Given the description of an element on the screen output the (x, y) to click on. 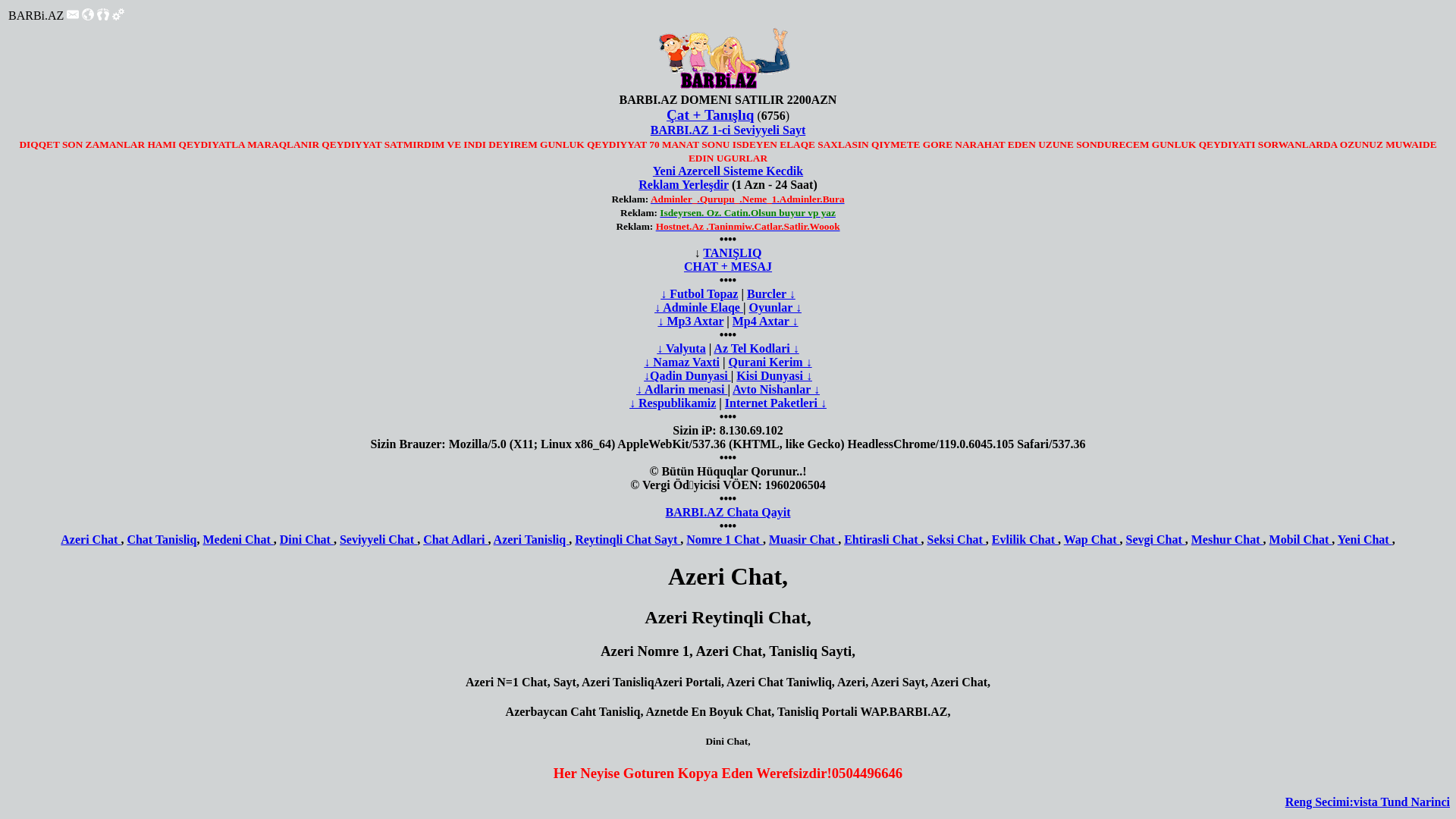
Isdeyrsen. Oz. Catin.Olsun buyur vp yaz Element type: text (747, 212)
Mesajlar Element type: hover (72, 14)
Muasir Chat Element type: text (802, 539)
Adminler_.Qurupu_.Neme_1.Adminler.Bura Element type: text (747, 198)
BARBI.AZ 1-ci Seviyyeli Sayt Element type: text (727, 129)
Hostnet.Az .Taninmiw.Catlar.Satlir.Woook Element type: text (747, 226)
CHAT + MESAJ Element type: text (727, 266)
Nomre 1 Chat Element type: text (724, 539)
Sevgi Chat Element type: text (1155, 539)
Chat Adlari Element type: text (455, 539)
Seksi Chat Element type: text (955, 539)
Ehtirasli Chat Element type: text (882, 539)
Reng Secimi:vista Tund Narinci Element type: text (1367, 801)
Reytinqli Chat Sayt Element type: text (627, 539)
Wap Chat Element type: text (1091, 539)
BARBI.AZ Chata Qayit Element type: text (727, 511)
Azeri Chat Element type: text (90, 539)
Evlilik Chat Element type: text (1024, 539)
Dini Chat Element type: text (306, 539)
Mobil Chat Element type: text (1300, 539)
Qonaqlar Element type: hover (103, 14)
Seviyyeli Chat Element type: text (378, 539)
Yeni Chat Element type: text (1364, 539)
Meshur Chat Element type: text (1227, 539)
Medeni Chat Element type: text (237, 539)
Mesajlar Element type: hover (72, 15)
Azeri Tanisliq Element type: text (531, 539)
Qonaqlar Element type: hover (103, 15)
Chat Tanisliq Element type: text (161, 539)
Yeni Azercell Sisteme Kecdik Element type: text (727, 170)
